Given the description of an element on the screen output the (x, y) to click on. 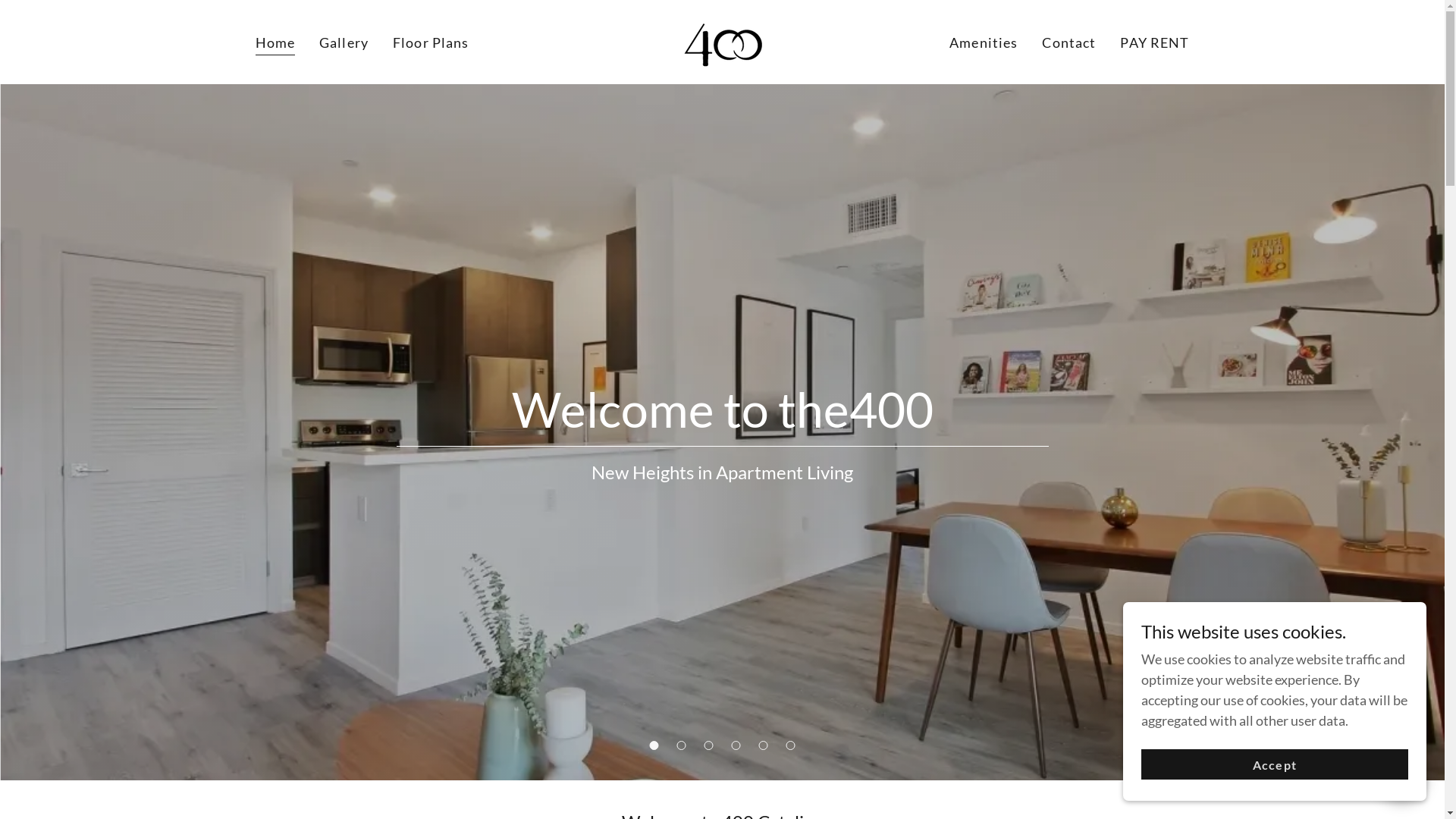
The400 Element type: hover (721, 39)
Floor Plans Element type: text (430, 42)
Gallery Element type: text (343, 42)
Home Element type: text (274, 44)
Contact Element type: text (1068, 42)
PAY RENT Element type: text (1154, 42)
Amenities Element type: text (983, 42)
Accept Element type: text (1274, 764)
